Given the description of an element on the screen output the (x, y) to click on. 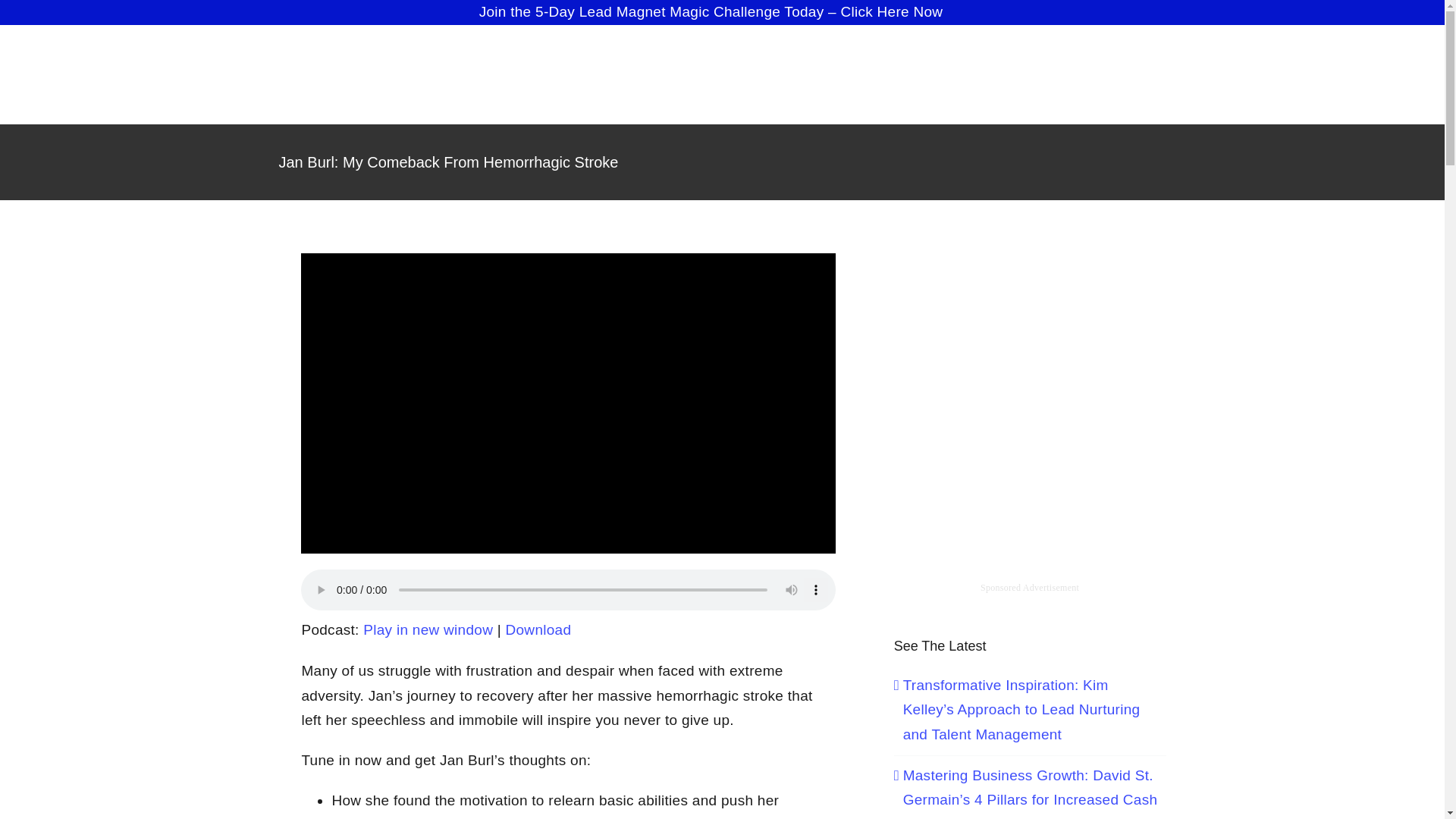
Download (538, 629)
Download (538, 629)
Play in new window (427, 629)
Play in new window (427, 629)
